Given the description of an element on the screen output the (x, y) to click on. 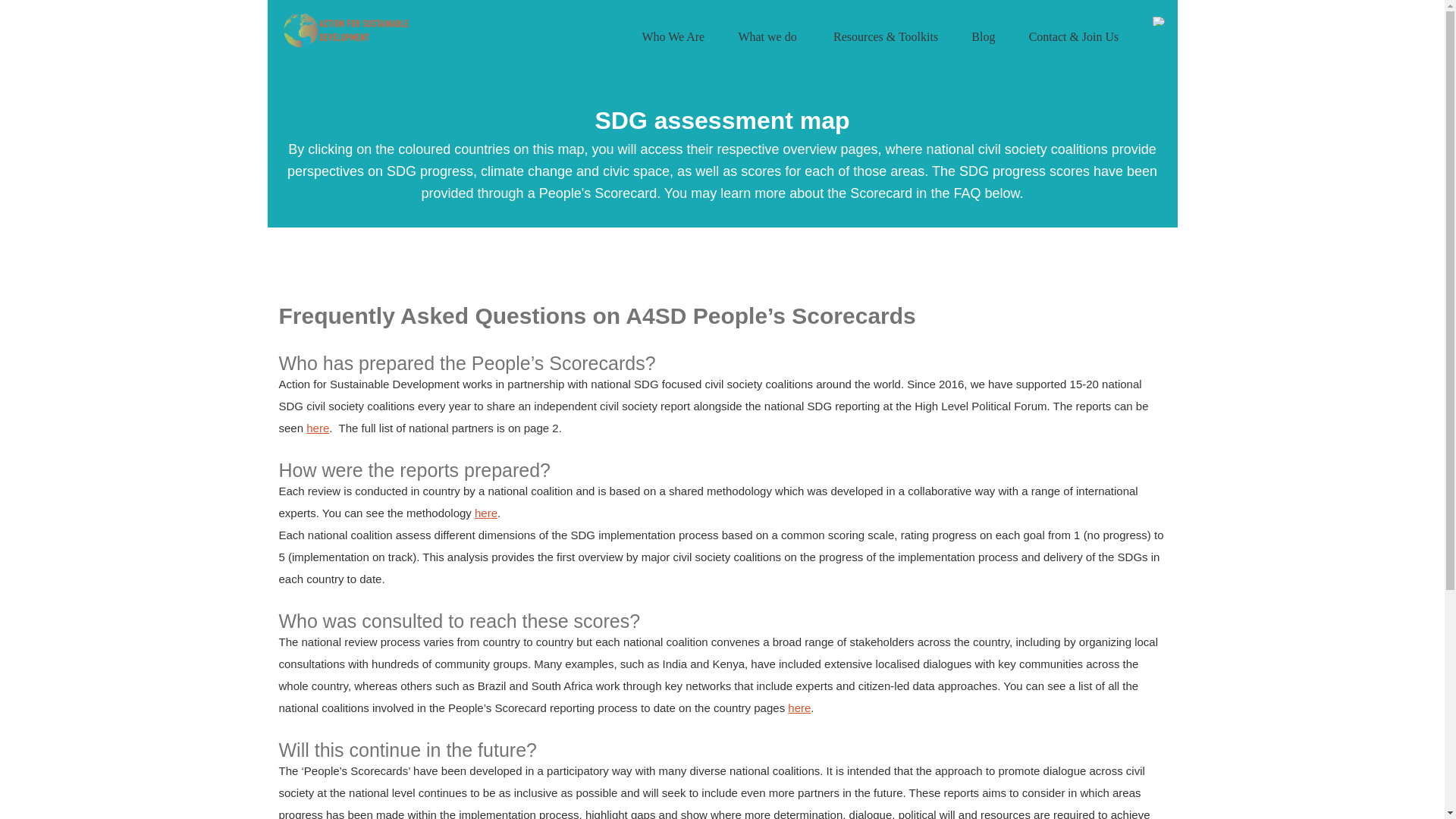
Who We Are (673, 36)
What we do (767, 36)
Blog (982, 36)
